Given the description of an element on the screen output the (x, y) to click on. 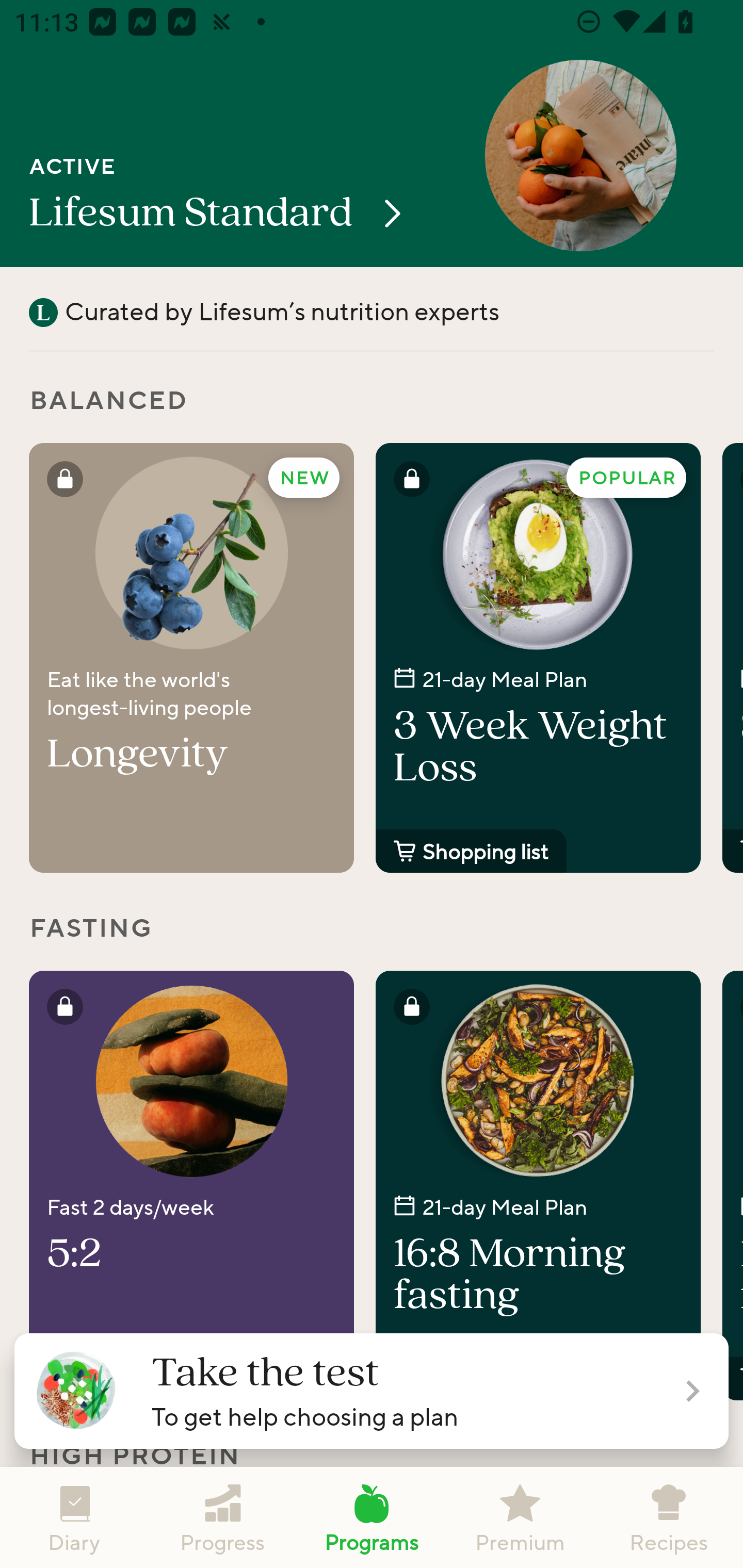
Fast 2 days/week 5:2 (190, 1185)
Take the test To get help choosing a plan (371, 1390)
Diary (74, 1517)
Progress (222, 1517)
Premium (519, 1517)
Recipes (668, 1517)
